Given the description of an element on the screen output the (x, y) to click on. 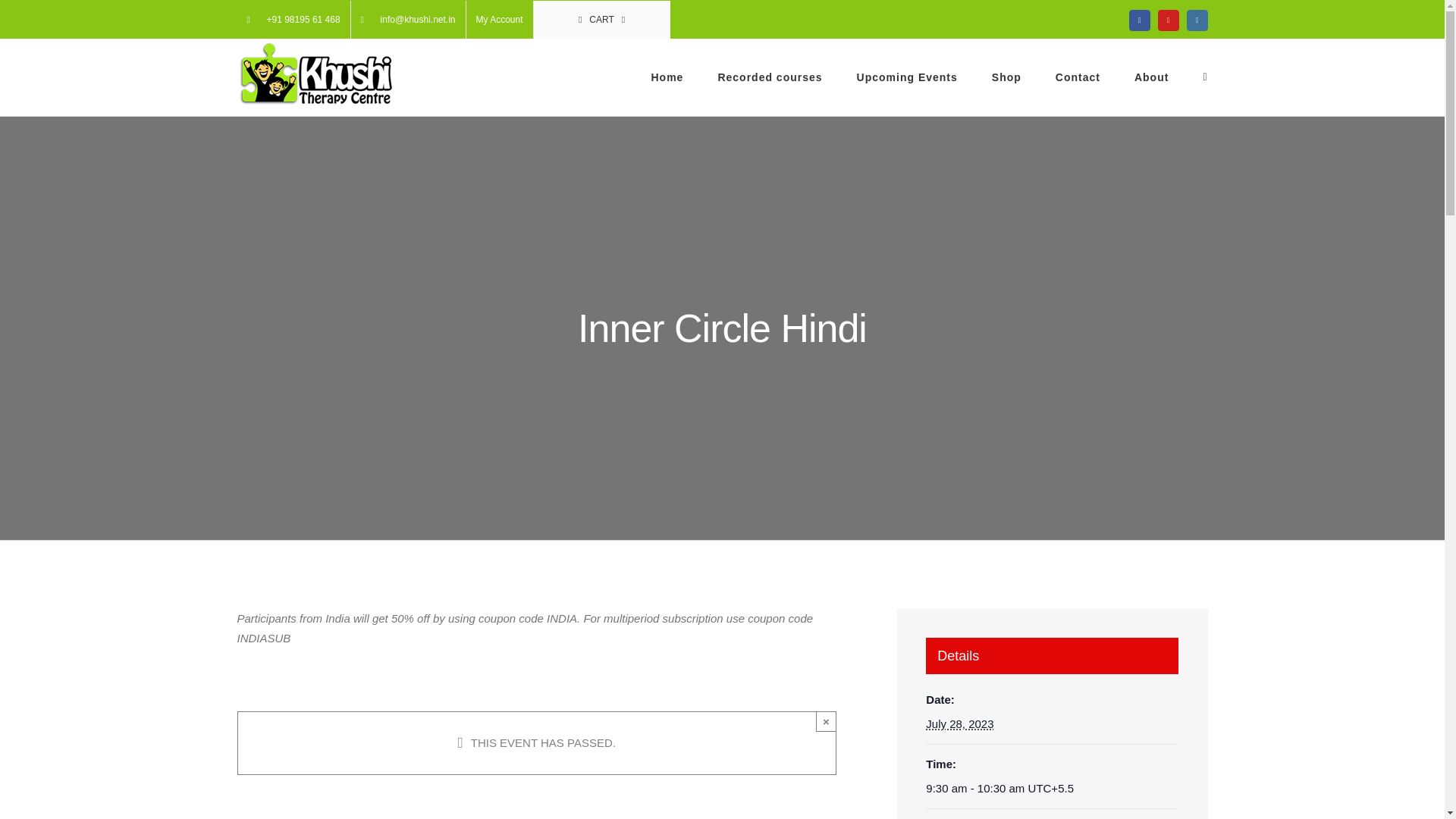
Upcoming Events (907, 77)
2023-07-28 (959, 723)
YouTube (1168, 20)
CART (601, 18)
2023-07-28 (1051, 788)
Log In (552, 177)
Facebook (1139, 20)
Instagram (1197, 20)
Instagram (1197, 20)
YouTube (1168, 20)
Recorded courses (769, 77)
Facebook (1139, 20)
My Account (498, 18)
